Given the description of an element on the screen output the (x, y) to click on. 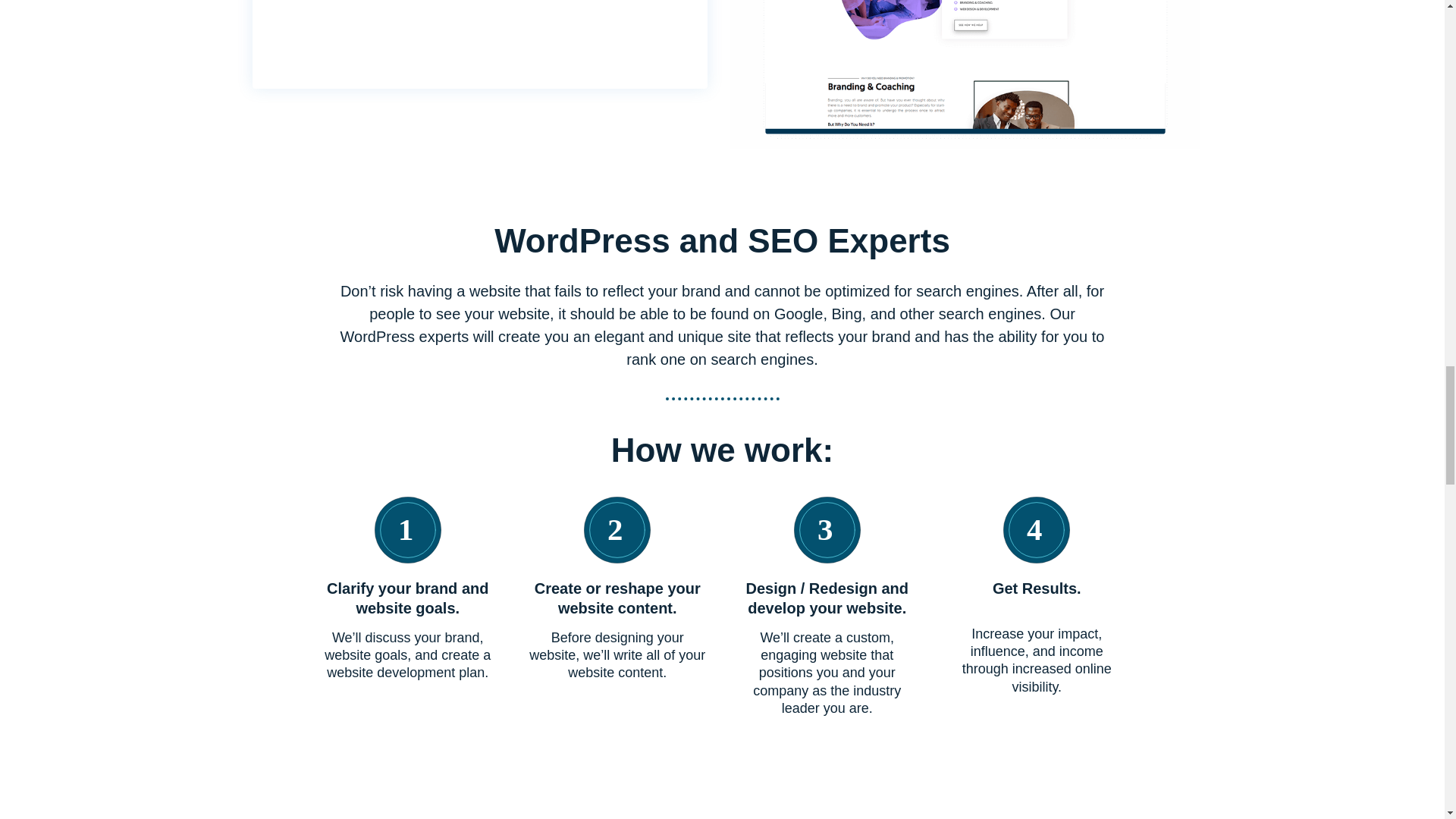
Website Building 8 (826, 529)
Website Building 5 (964, 74)
Website Building 7 (616, 529)
Website Building 6 (407, 529)
Website Building 9 (1036, 529)
